Given the description of an element on the screen output the (x, y) to click on. 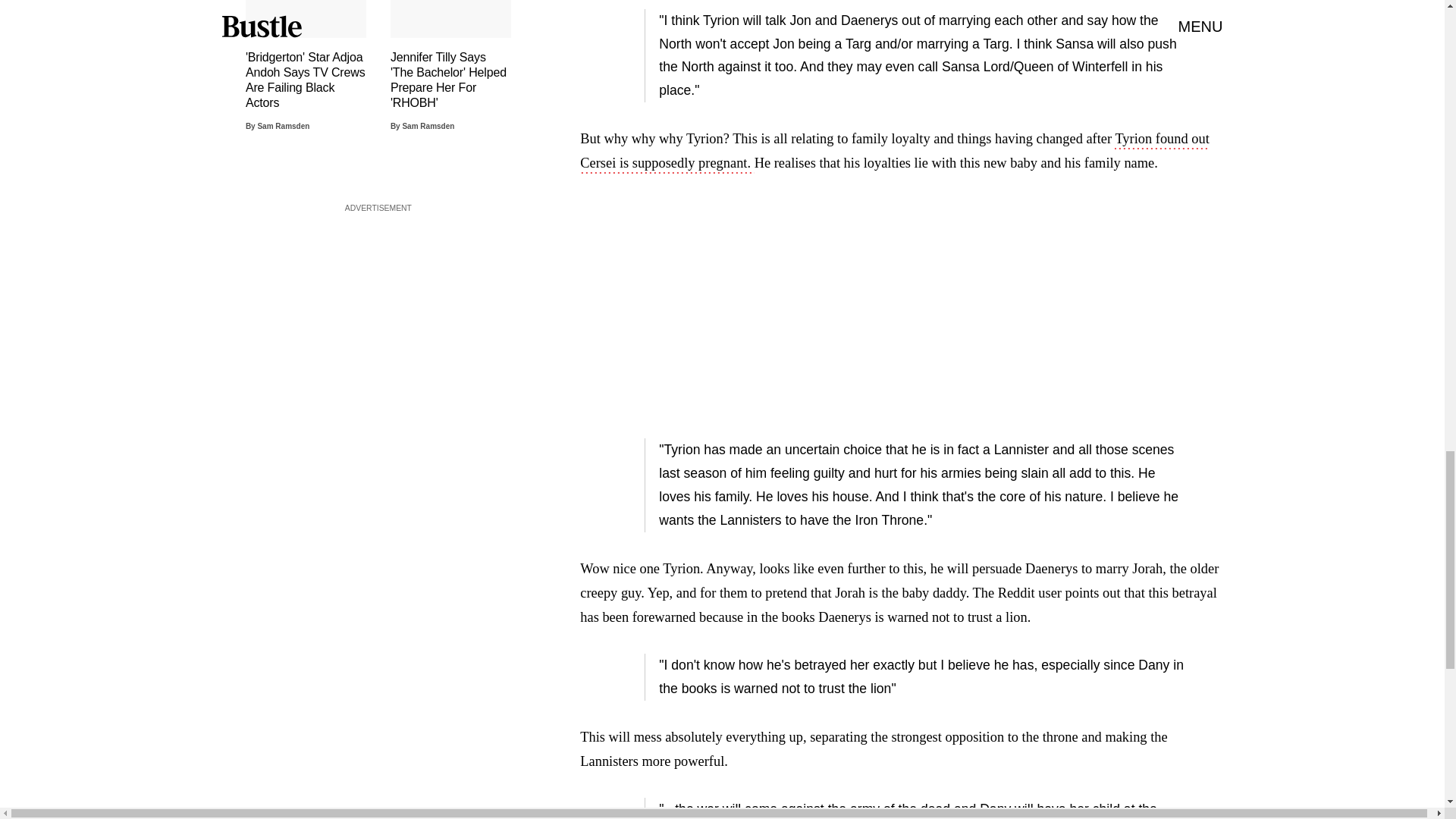
Tyrion found out Cersei is supposedly pregnant. (893, 152)
